Given the description of an element on the screen output the (x, y) to click on. 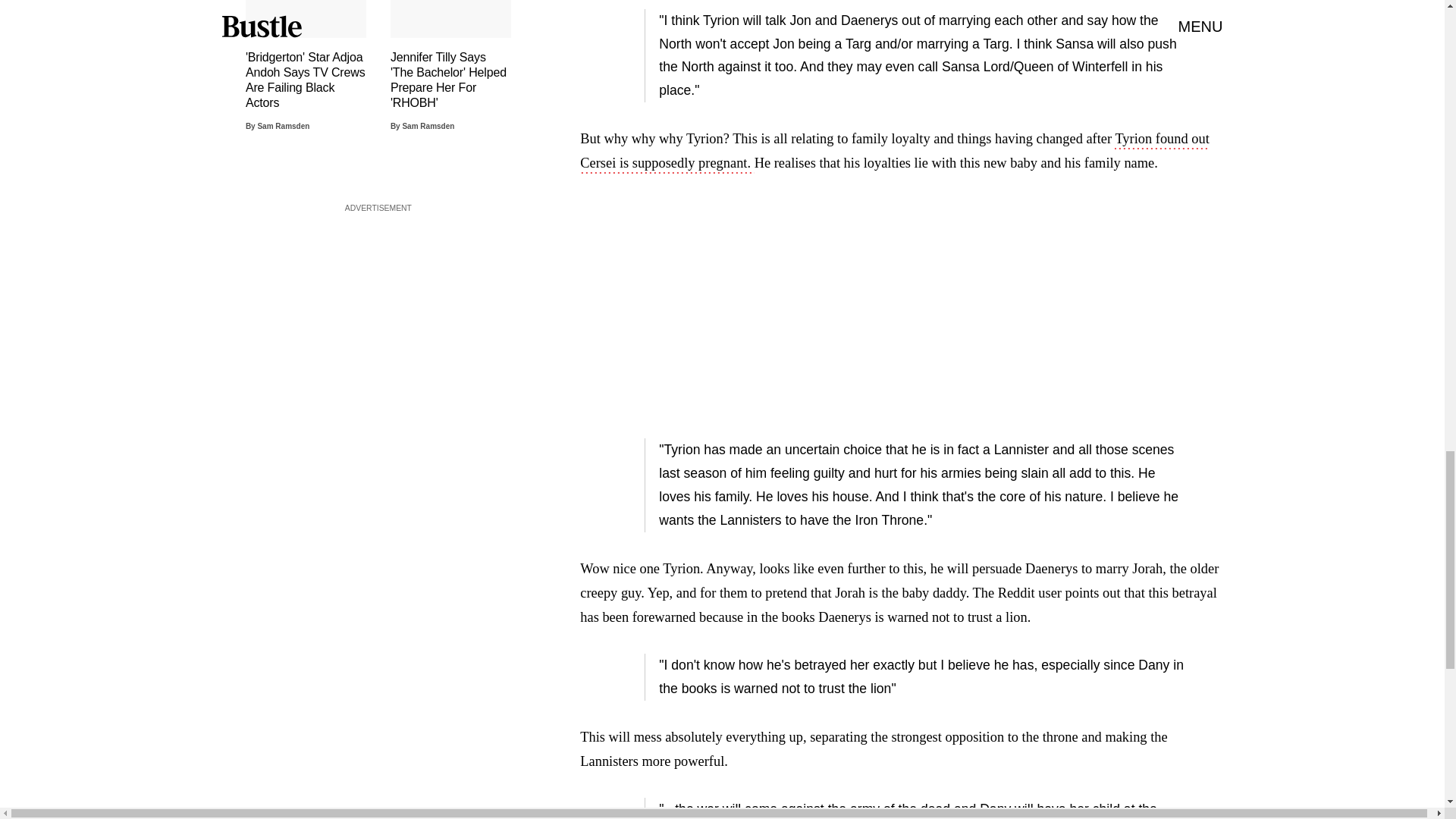
Tyrion found out Cersei is supposedly pregnant. (893, 152)
